Given the description of an element on the screen output the (x, y) to click on. 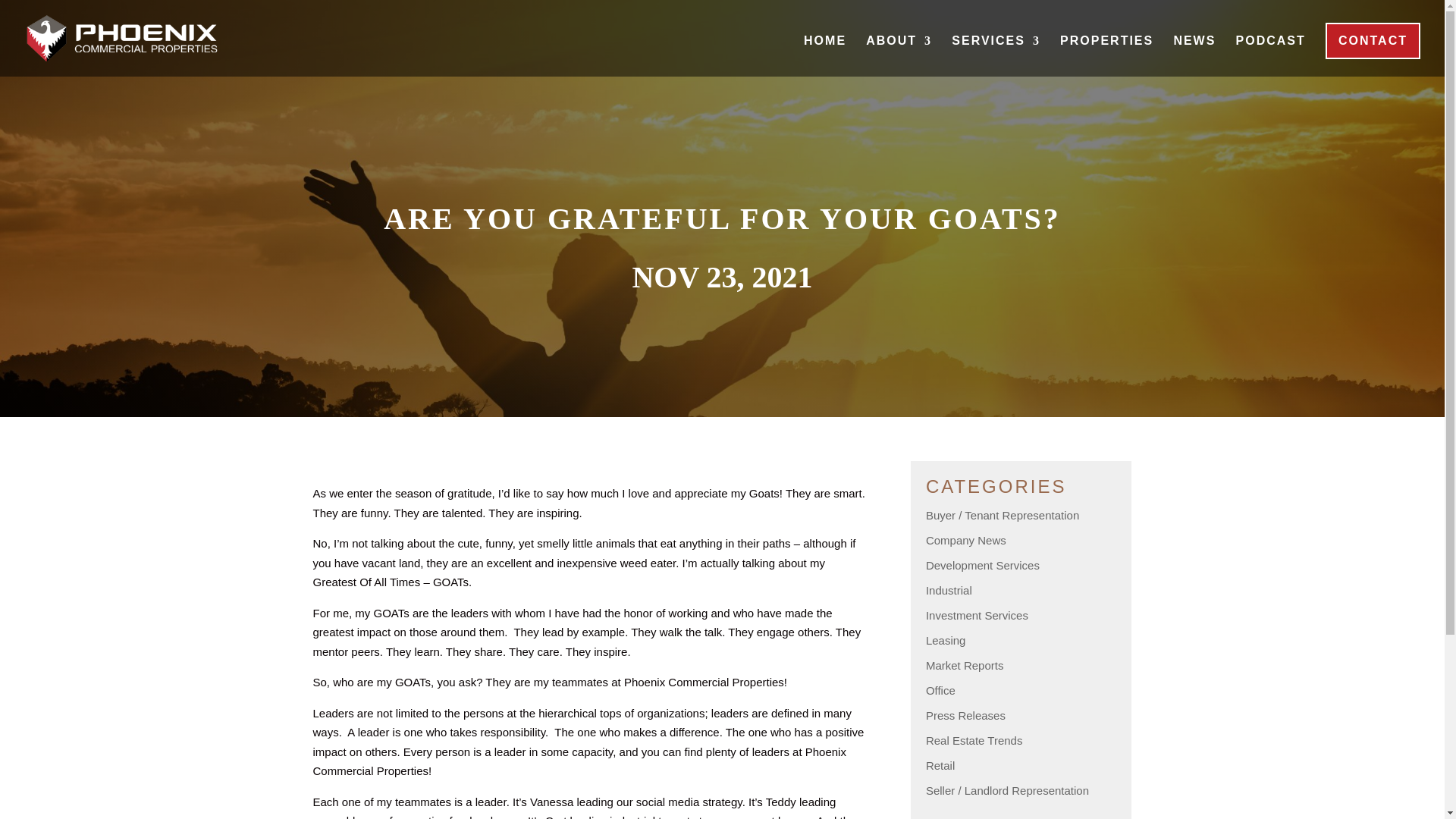
CONTACT (1372, 40)
ABOUT (898, 56)
PODCAST (1271, 56)
NEWS (1194, 56)
SERVICES (996, 56)
PROPERTIES (1106, 56)
HOME (824, 56)
